Given the description of an element on the screen output the (x, y) to click on. 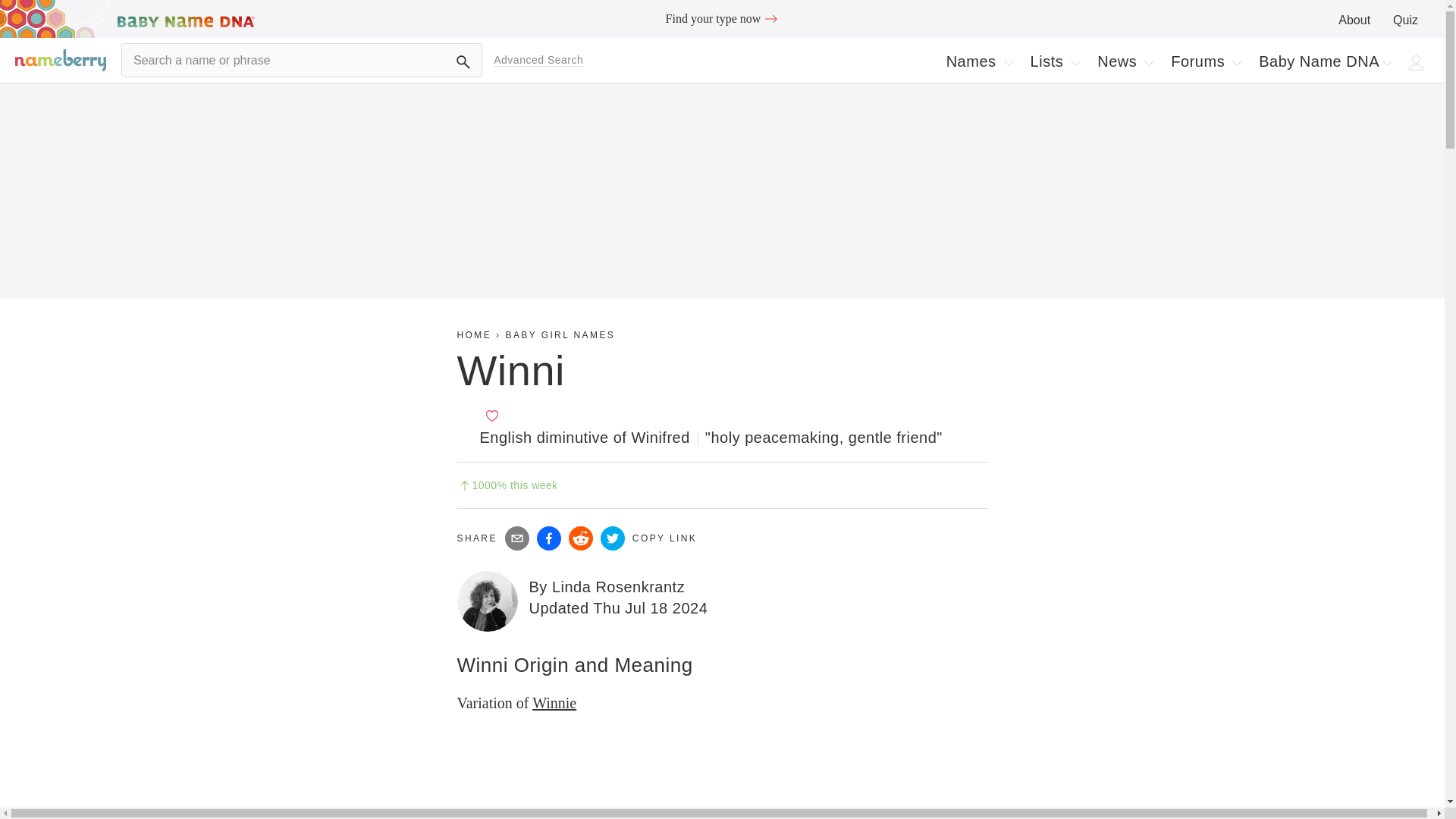
Chevron - Down (1148, 62)
User (1416, 62)
Chevron - Down (1236, 62)
Chevron - Down (721, 18)
HEART (1008, 62)
Quiz (491, 415)
Arrow Right (1405, 19)
Chevron - Down (1055, 61)
About (770, 18)
Chevron - Down (1386, 62)
3rd party ad content (1354, 19)
3rd party ad content (979, 61)
